Given the description of an element on the screen output the (x, y) to click on. 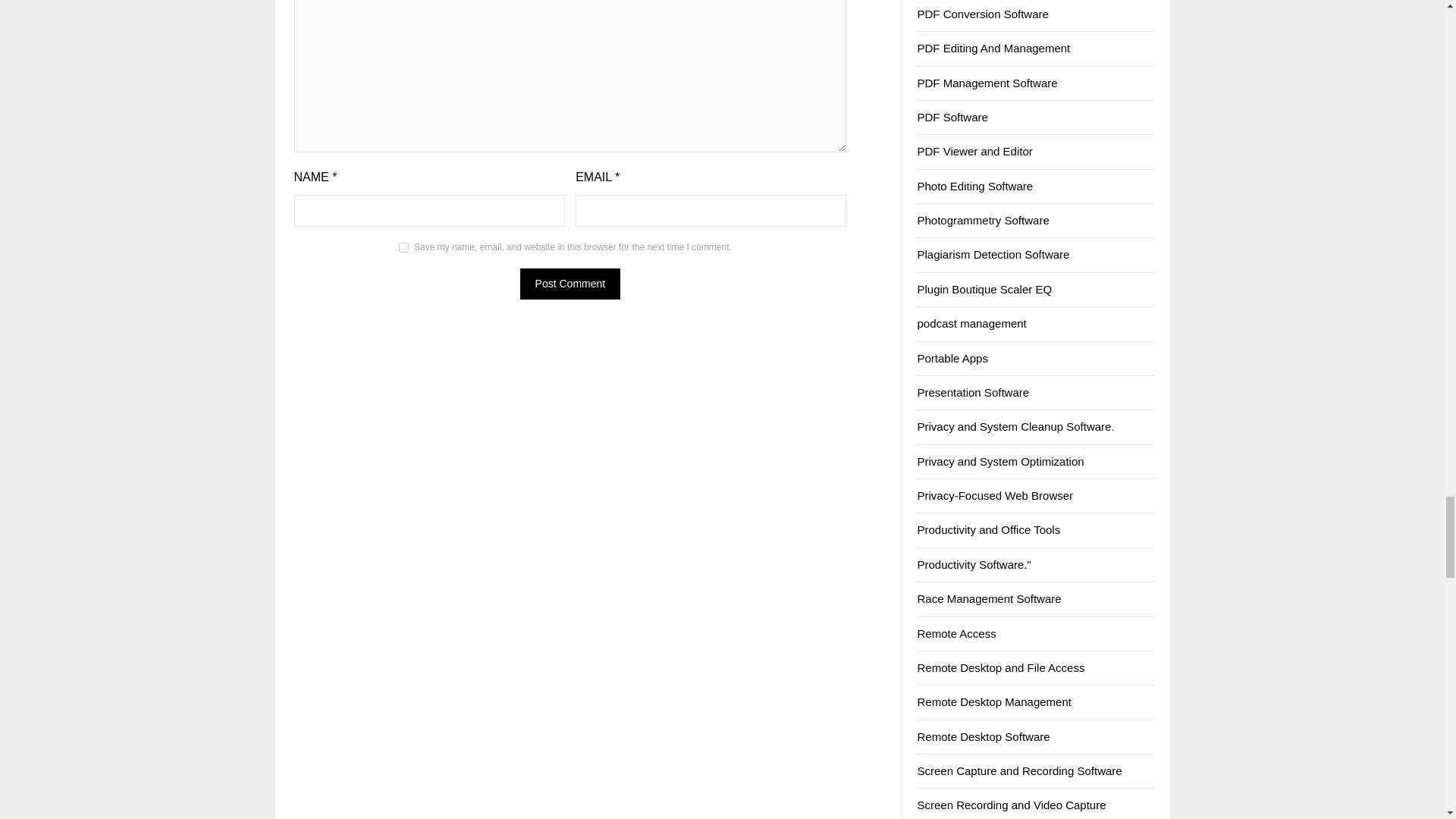
yes (403, 247)
Post Comment (570, 283)
Post Comment (570, 283)
